Given the description of an element on the screen output the (x, y) to click on. 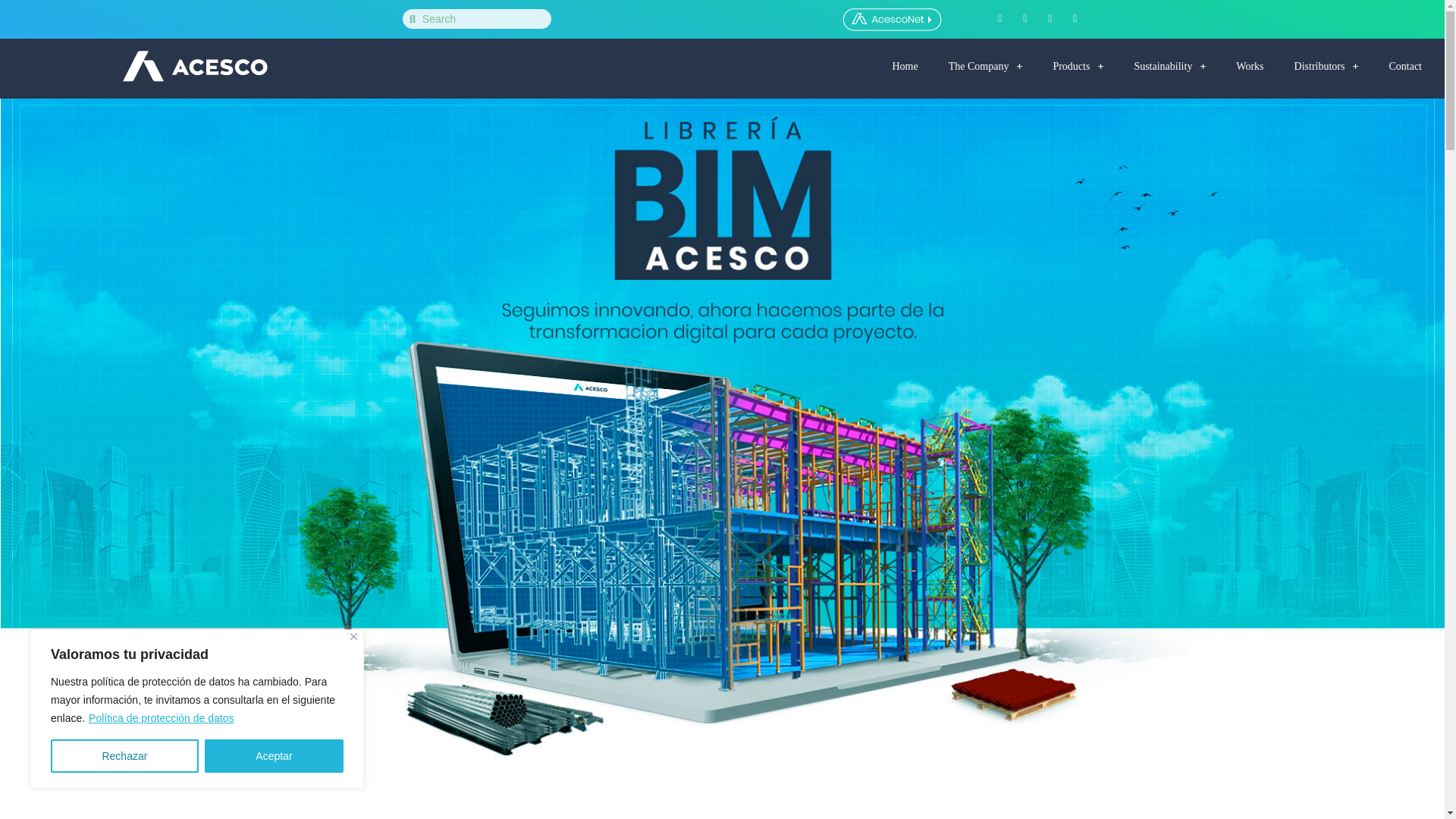
Facebook (1000, 18)
Products (1077, 66)
Instagram (1024, 18)
Linkedin (1050, 18)
Home (904, 66)
The Company (985, 66)
Aceptar (274, 756)
Rechazar (124, 756)
Youtube (1075, 18)
